Given the description of an element on the screen output the (x, y) to click on. 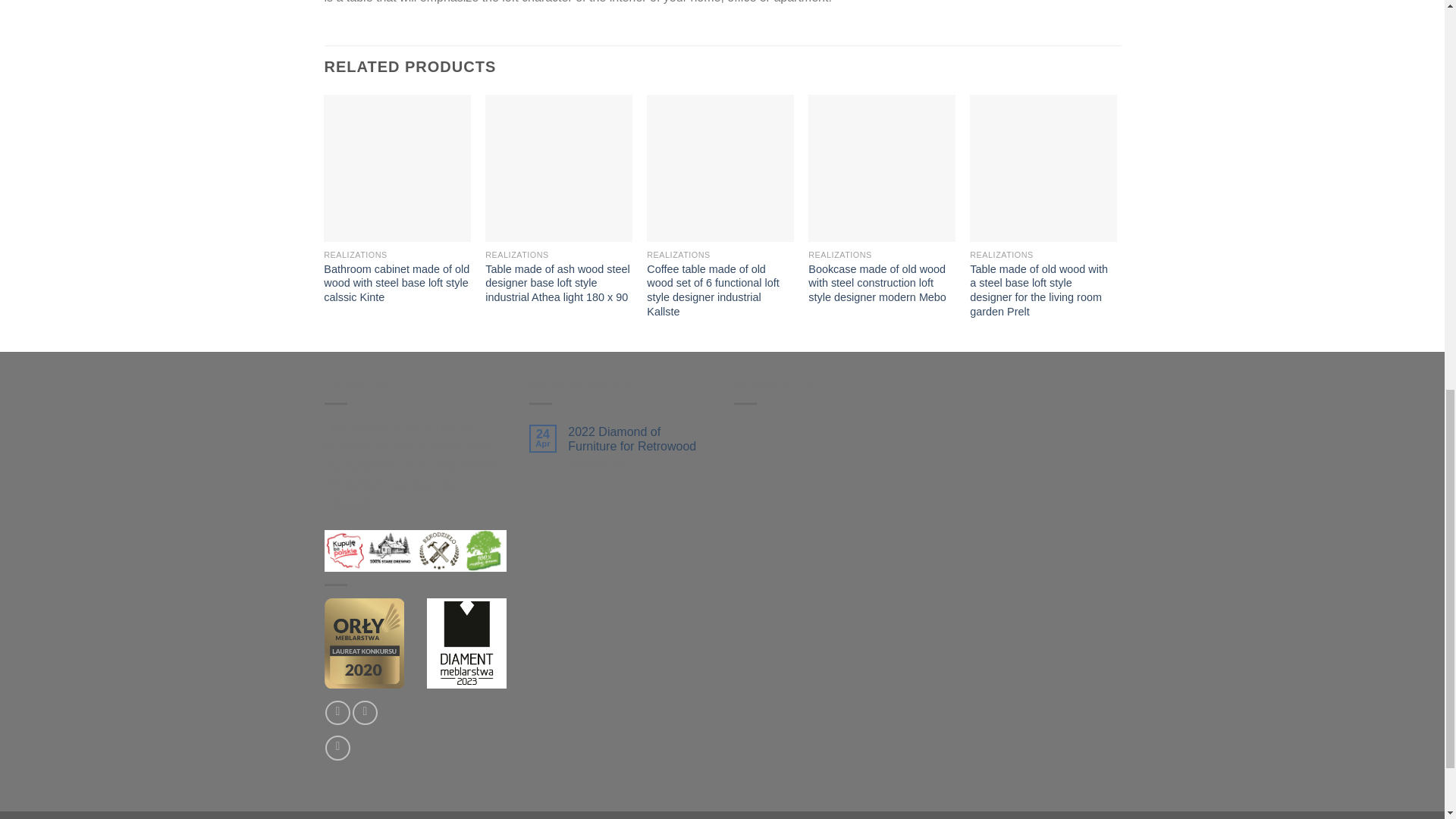
Follow on Facebook (337, 713)
